Given the description of an element on the screen output the (x, y) to click on. 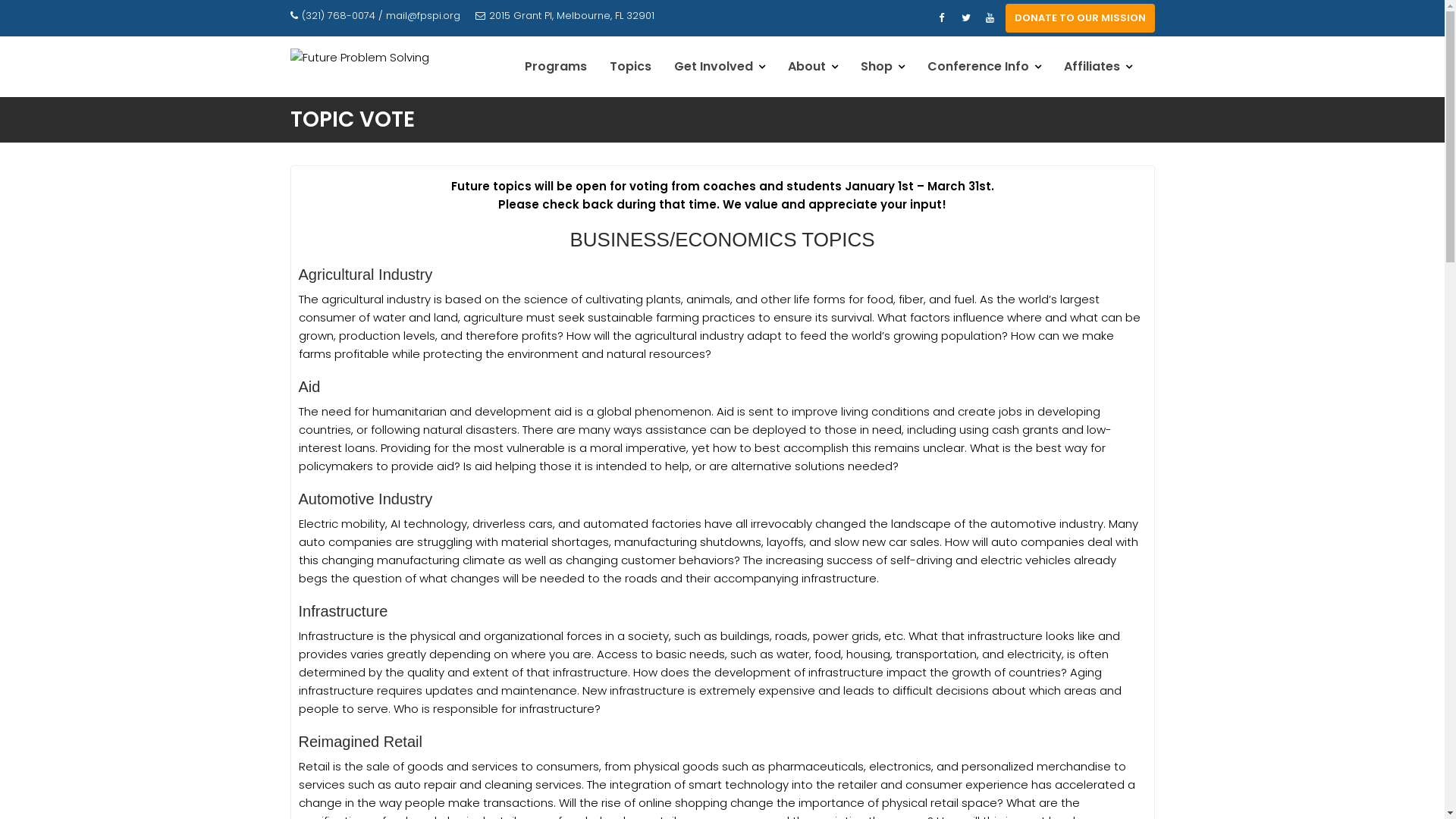
Topics Element type: text (629, 66)
Facebook Element type: hover (941, 18)
Affiliates Element type: text (1097, 66)
Youtube Element type: hover (990, 18)
About Element type: text (812, 66)
Programs Element type: text (554, 66)
2015 Grant Pl, Melbourne, FL 32901 Element type: text (563, 15)
Twitter Element type: hover (965, 18)
Get Involved Element type: text (719, 66)
Shop Element type: text (882, 66)
DONATE TO OUR MISSION Element type: text (1079, 17)
Conference Info Element type: text (984, 66)
